Given the description of an element on the screen output the (x, y) to click on. 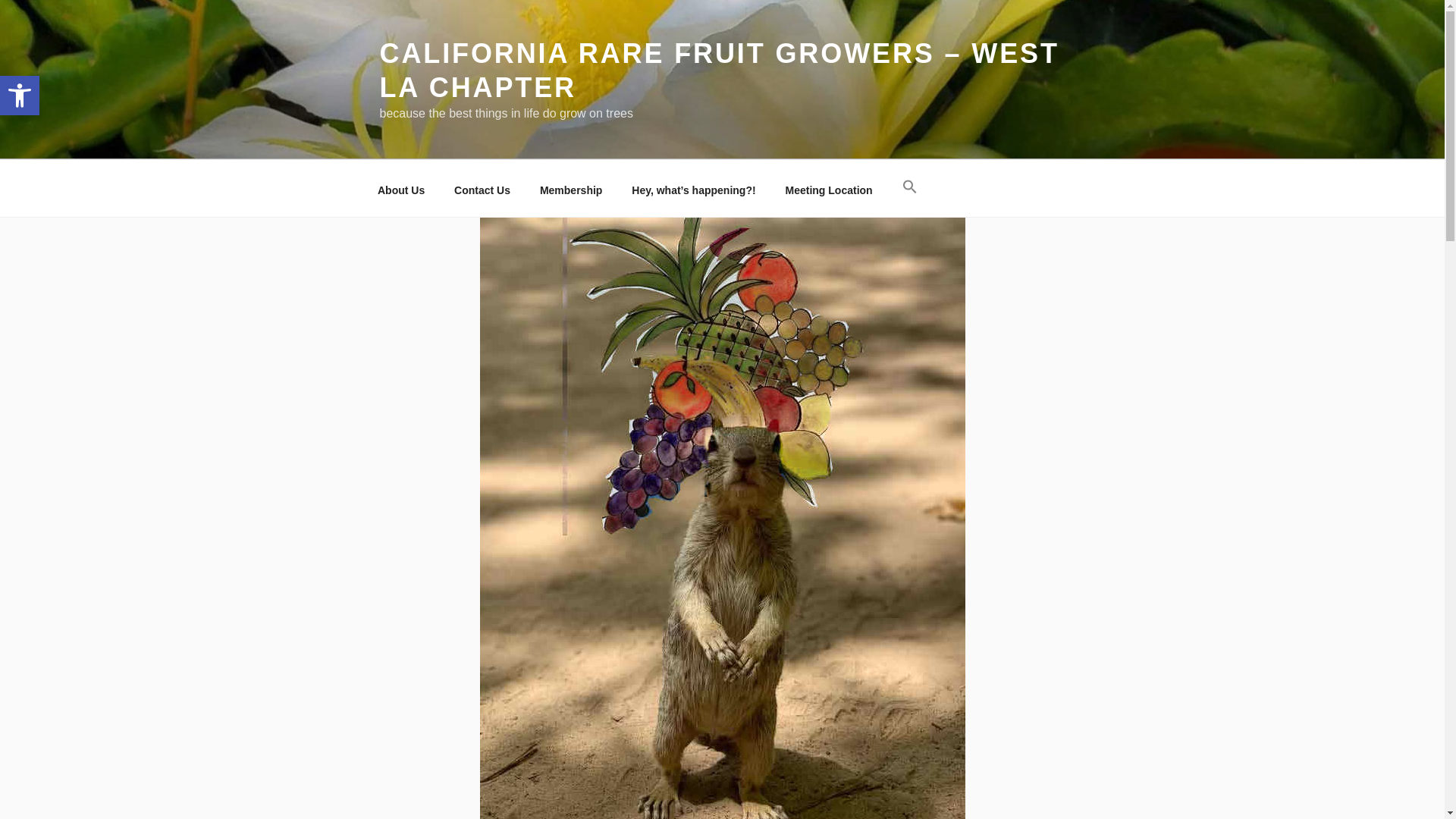
Meeting Location (828, 189)
Contact Us (482, 189)
Membership (569, 189)
Accessibility Tools (19, 95)
Accessibility Tools (19, 95)
About Us (19, 95)
